Given the description of an element on the screen output the (x, y) to click on. 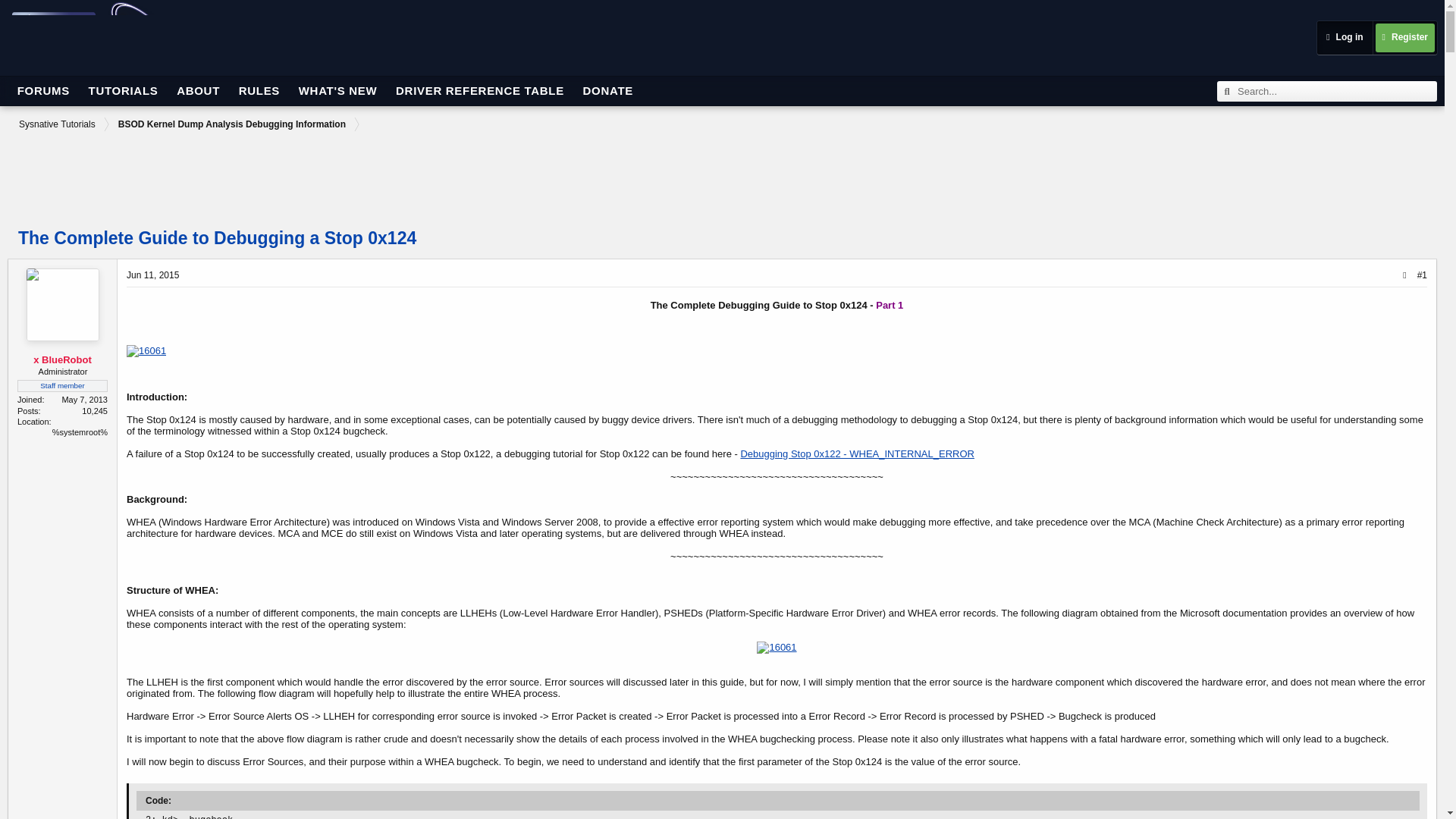
BSOD Kernel Dump Analysis Debugging Information (231, 124)
Log in (1344, 37)
x BlueRobot (62, 358)
16061 (776, 647)
WHAT'S NEW (338, 91)
FORUMS (43, 91)
TUTORIALS (123, 91)
DRIVER REFERENCE TABLE (480, 91)
